Given the description of an element on the screen output the (x, y) to click on. 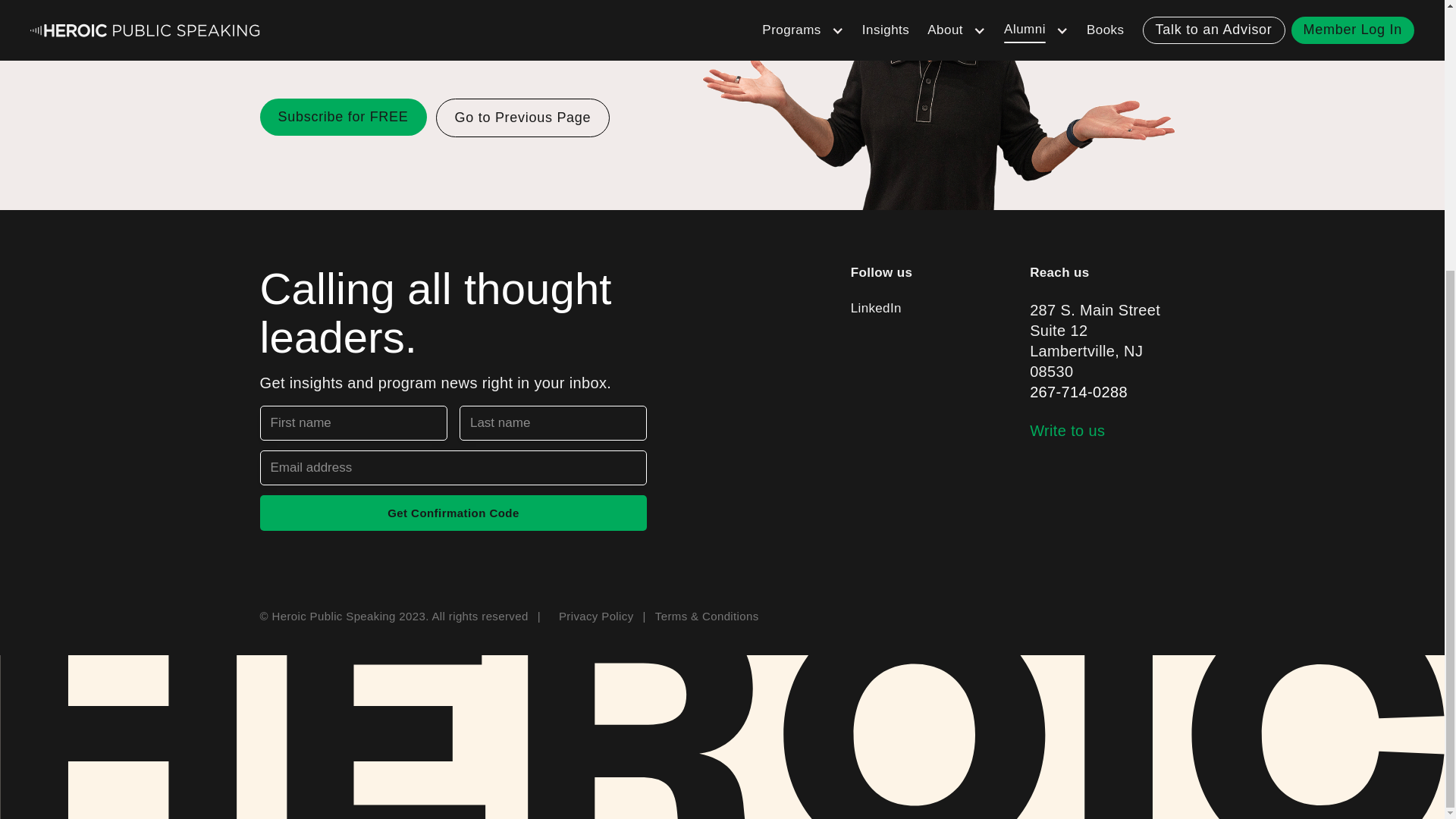
Write to us (1067, 430)
Get Confirmation Code (452, 512)
Subscribe for FREE (342, 116)
Go to Previous Page (522, 117)
Get Confirmation Code (452, 512)
267-714-0288 (1077, 392)
LinkedIn (1107, 341)
